Given the description of an element on the screen output the (x, y) to click on. 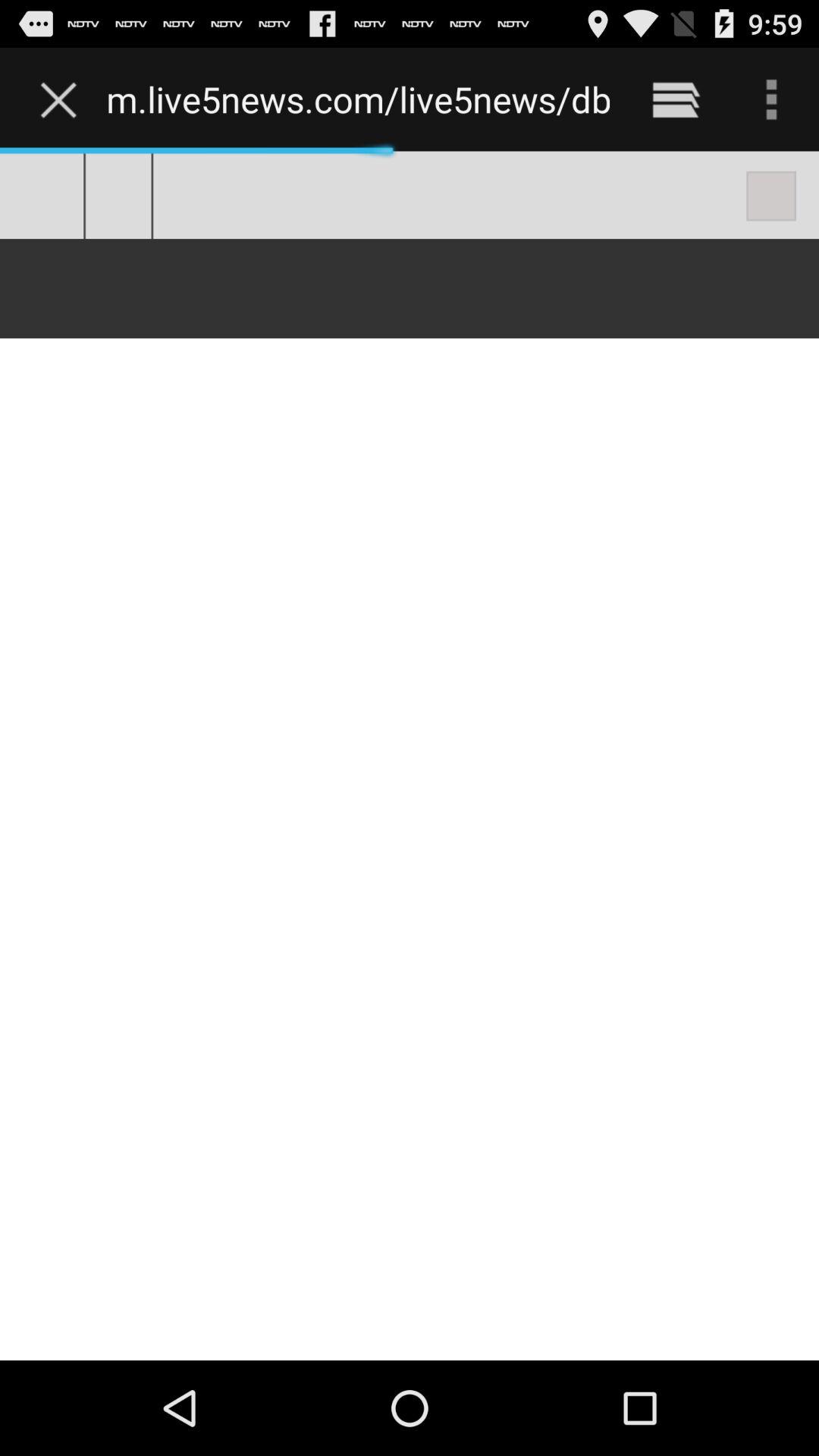
click the item below m live5news com icon (409, 755)
